Given the description of an element on the screen output the (x, y) to click on. 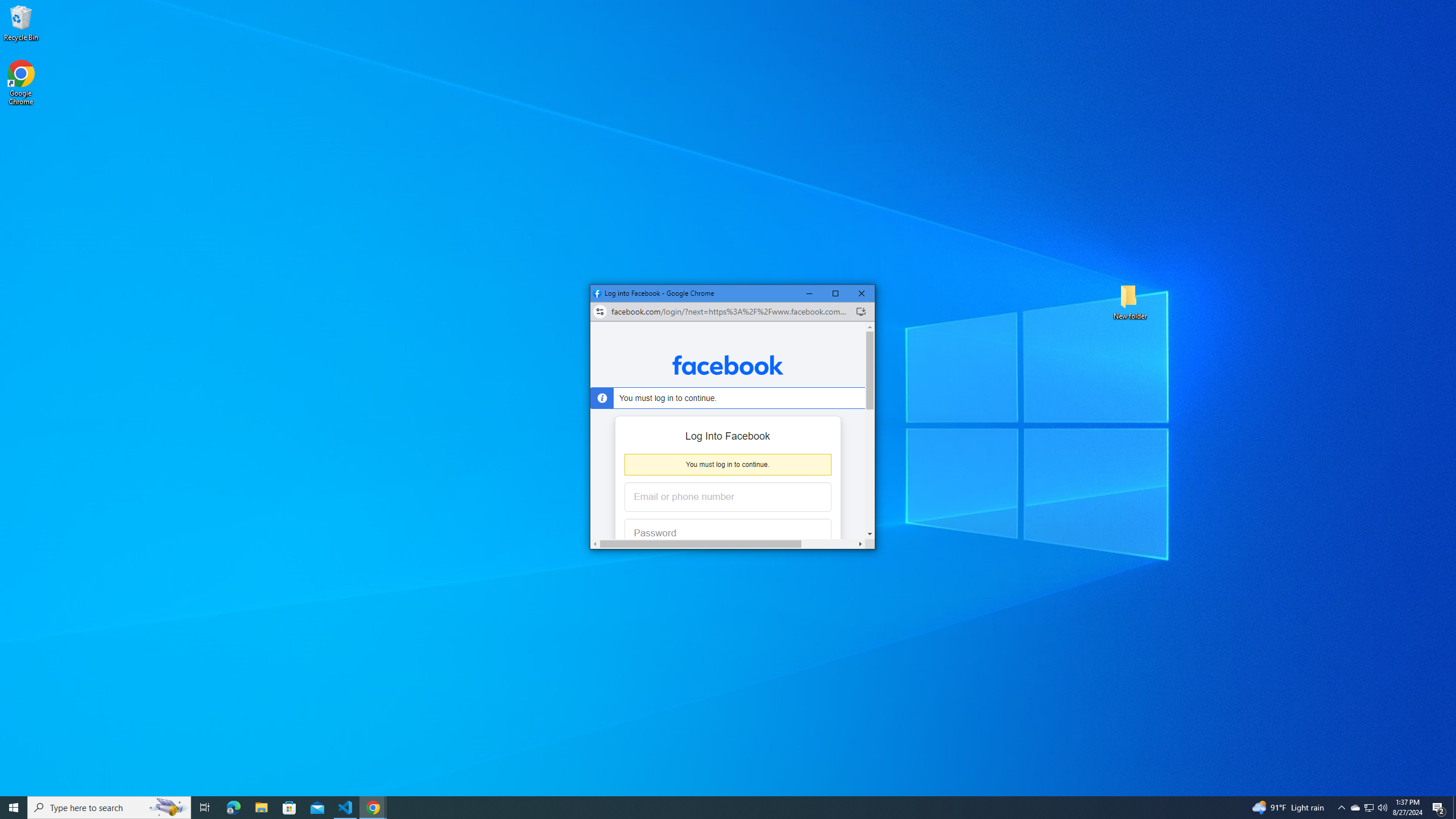
Install Facebook (860, 311)
Microsoft Store (289, 807)
User Promoted Notification Area (1368, 807)
Google Chrome - 3 running windows (373, 807)
Task View (204, 807)
Notification Chevron (1341, 807)
Password (719, 533)
Running applications (717, 807)
Start (13, 807)
